Given the description of an element on the screen output the (x, y) to click on. 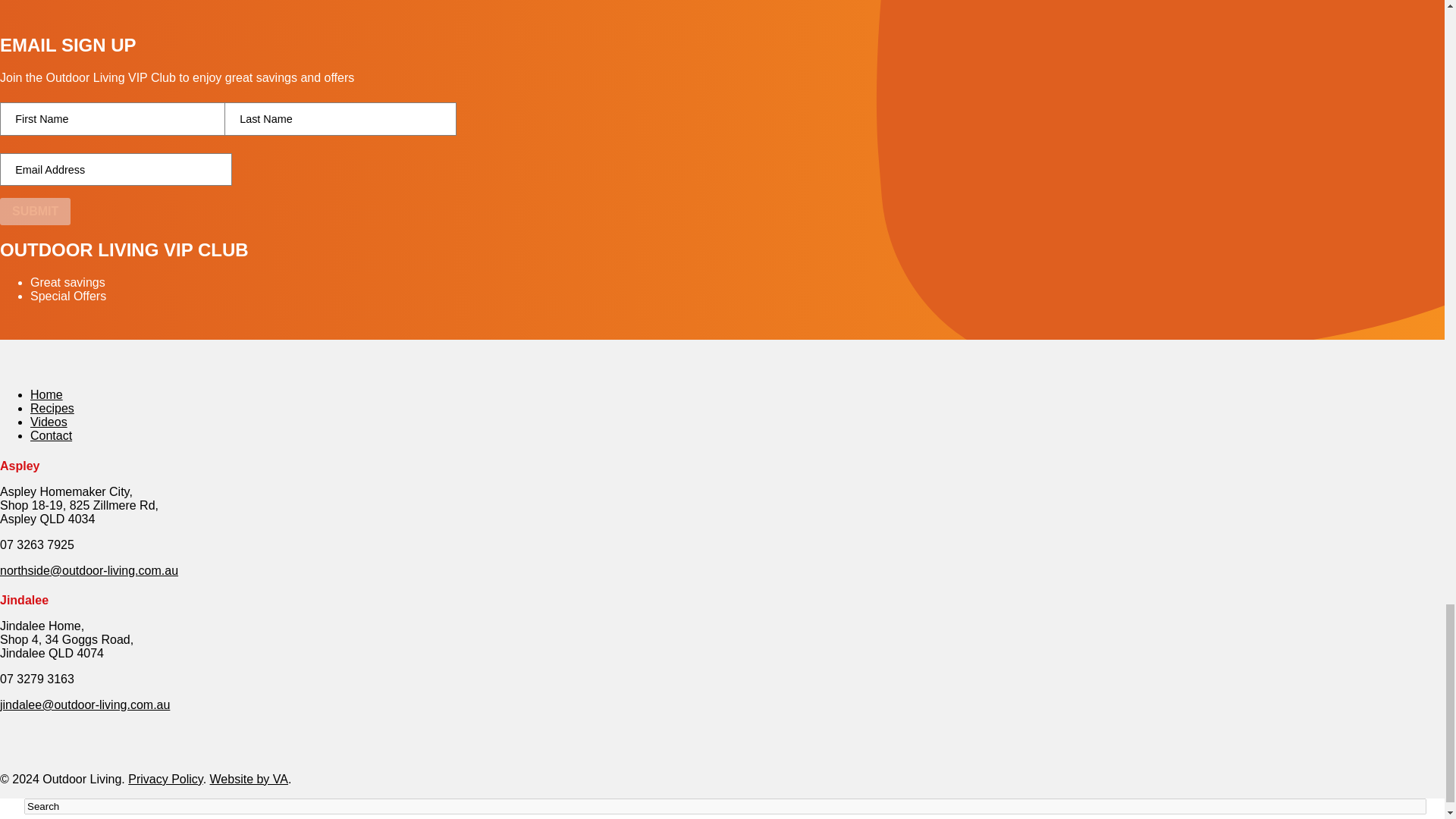
Submit (34, 211)
